Given the description of an element on the screen output the (x, y) to click on. 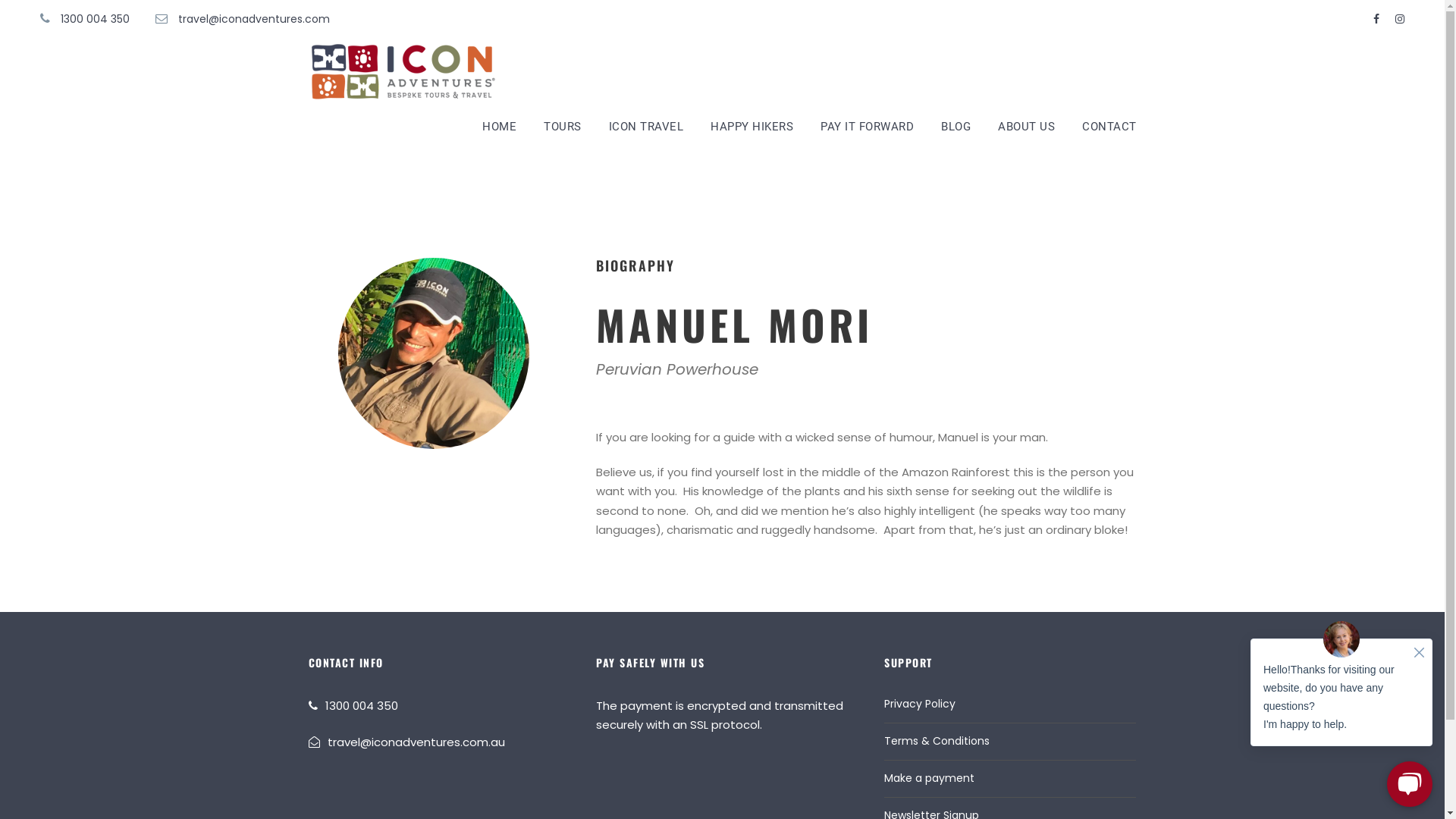
Privacy Policy Element type: text (919, 703)
HAPPY HIKERS Element type: text (751, 133)
Make a payment Element type: text (929, 777)
1300 004 350 Element type: text (360, 705)
ABOUT US Element type: text (1025, 133)
PAY IT FORWARD Element type: text (866, 133)
instagram Element type: hover (1399, 18)
HOME Element type: text (499, 133)
Grey Tagline Logo 250 x 85 px (4) Element type: hover (402, 71)
travel@iconadventures.com.au Element type: text (416, 741)
ICON TRAVEL Element type: text (645, 133)
Terms & Conditions Element type: text (936, 740)
manuel Element type: hover (433, 352)
BLOG Element type: text (955, 133)
facebook Element type: hover (1376, 18)
TOURS Element type: text (562, 133)
CONTACT Element type: text (1109, 133)
